Given the description of an element on the screen output the (x, y) to click on. 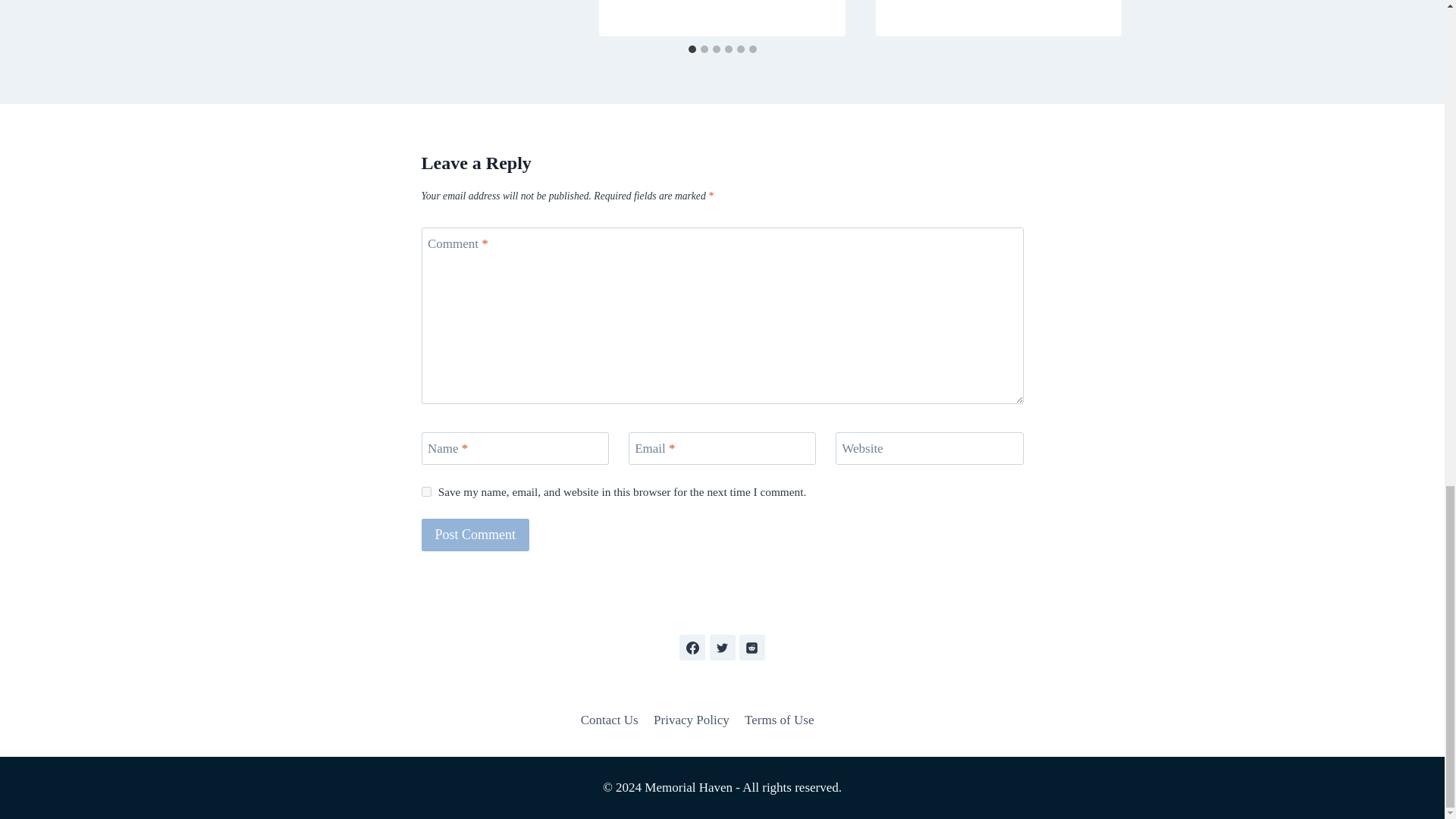
Post Comment (475, 534)
yes (426, 491)
